Given the description of an element on the screen output the (x, y) to click on. 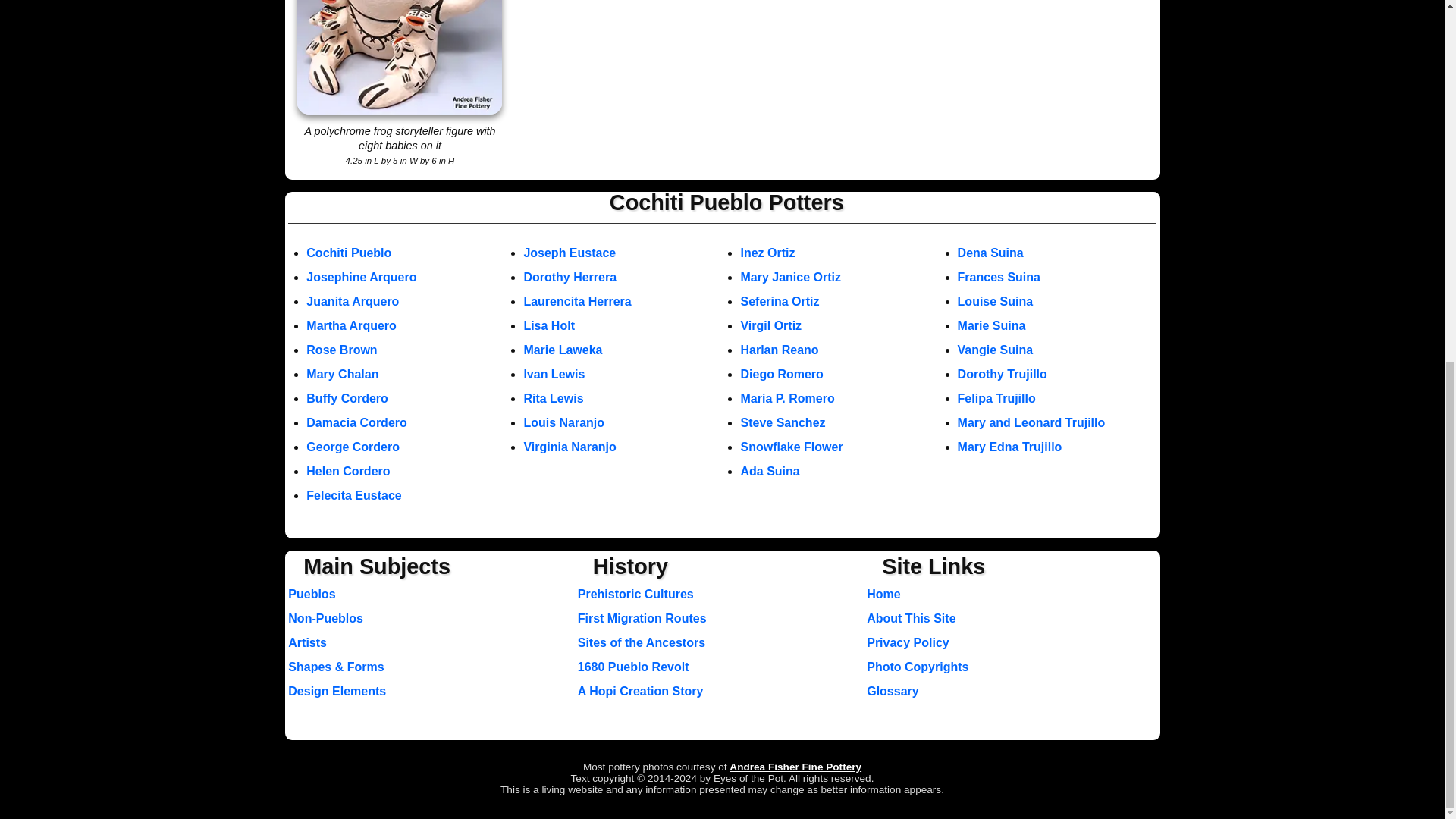
Click to see a larger version (399, 57)
